Given the description of an element on the screen output the (x, y) to click on. 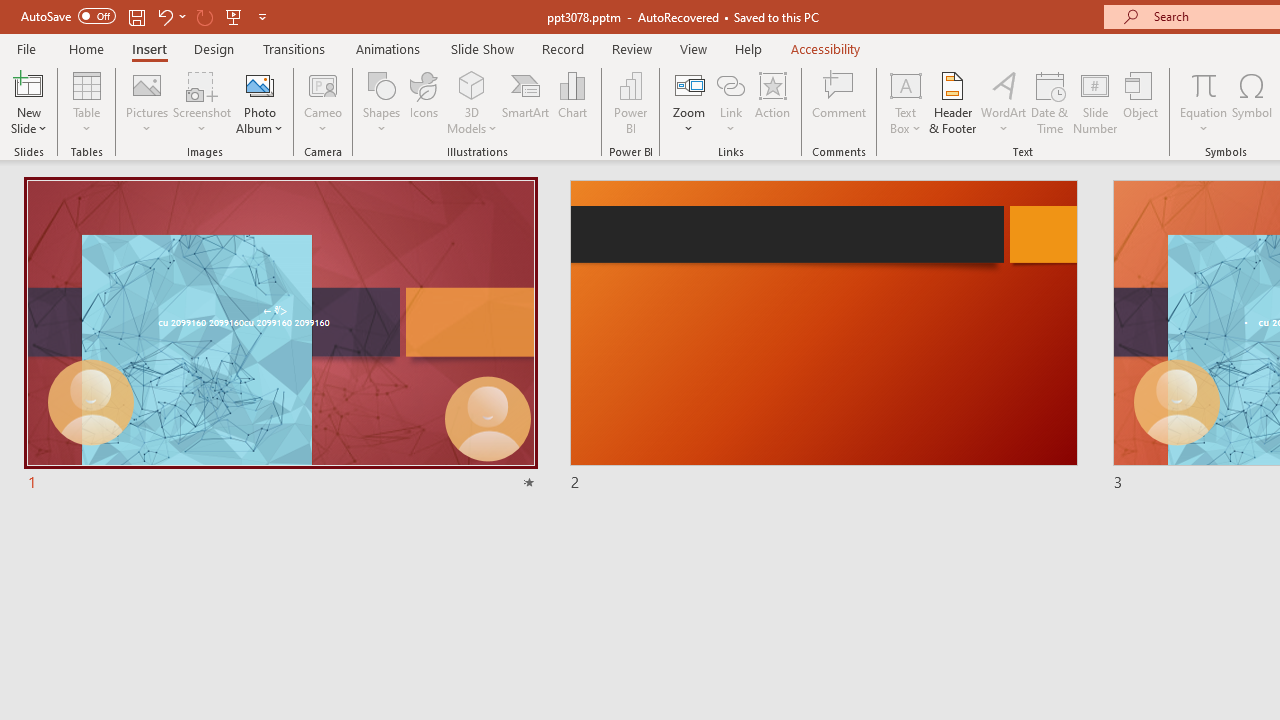
Symbol... (1252, 102)
Chart... (572, 102)
3D Models (472, 102)
Power BI (630, 102)
3D Models (472, 84)
WordArt (1004, 102)
